Given the description of an element on the screen output the (x, y) to click on. 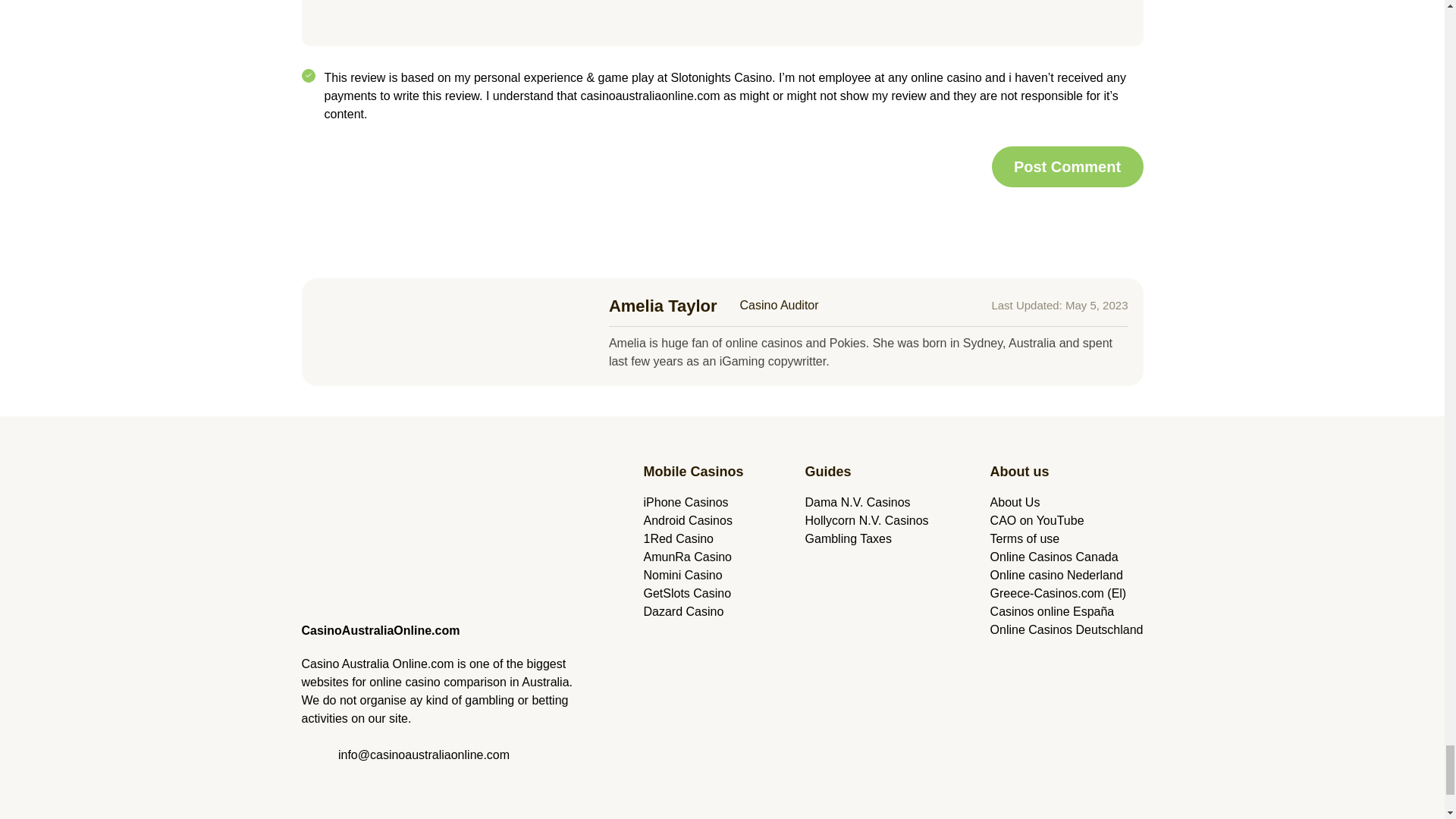
Post Comment (1066, 166)
